Given the description of an element on the screen output the (x, y) to click on. 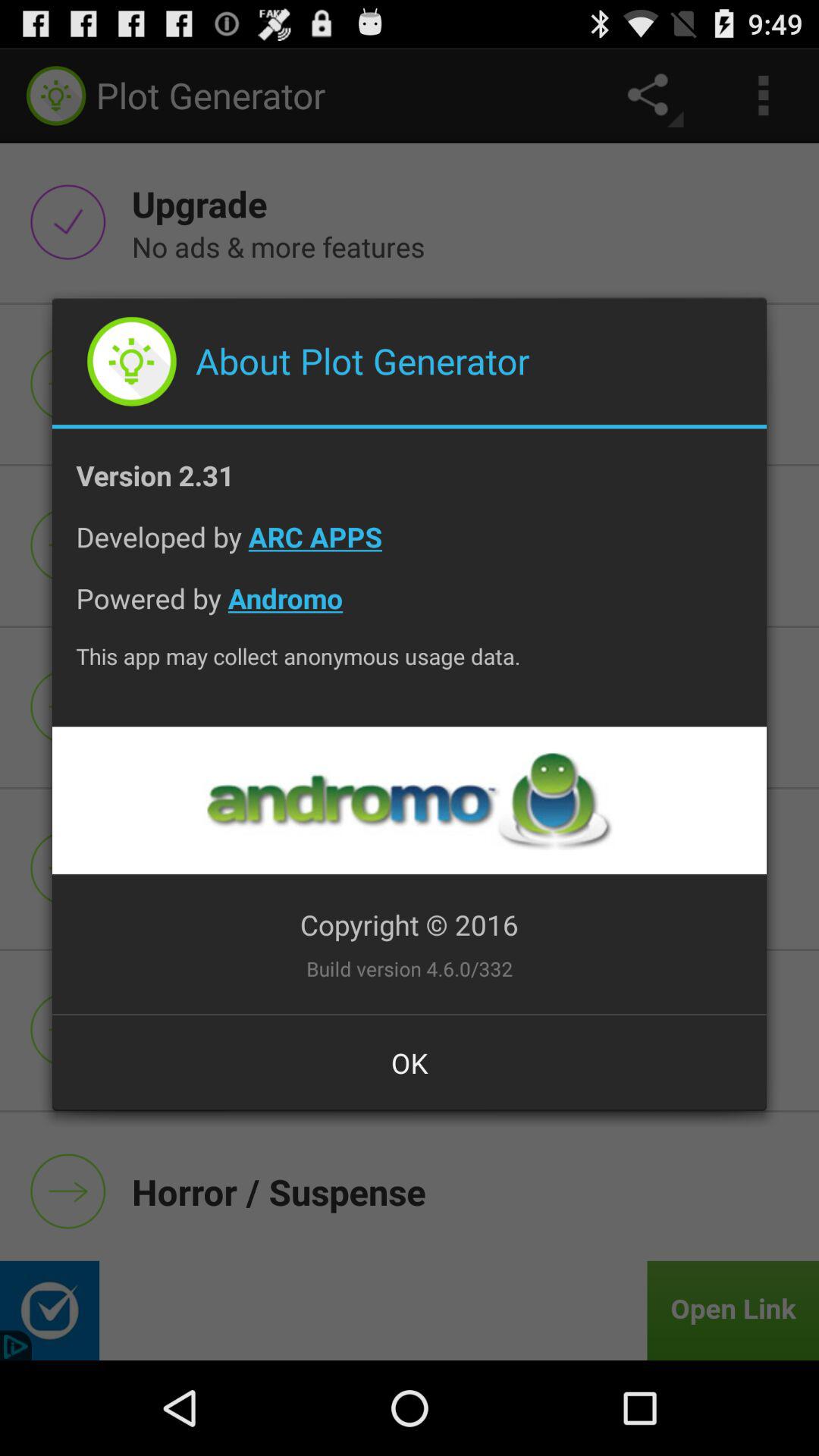
scroll to ok button (409, 1062)
